Given the description of an element on the screen output the (x, y) to click on. 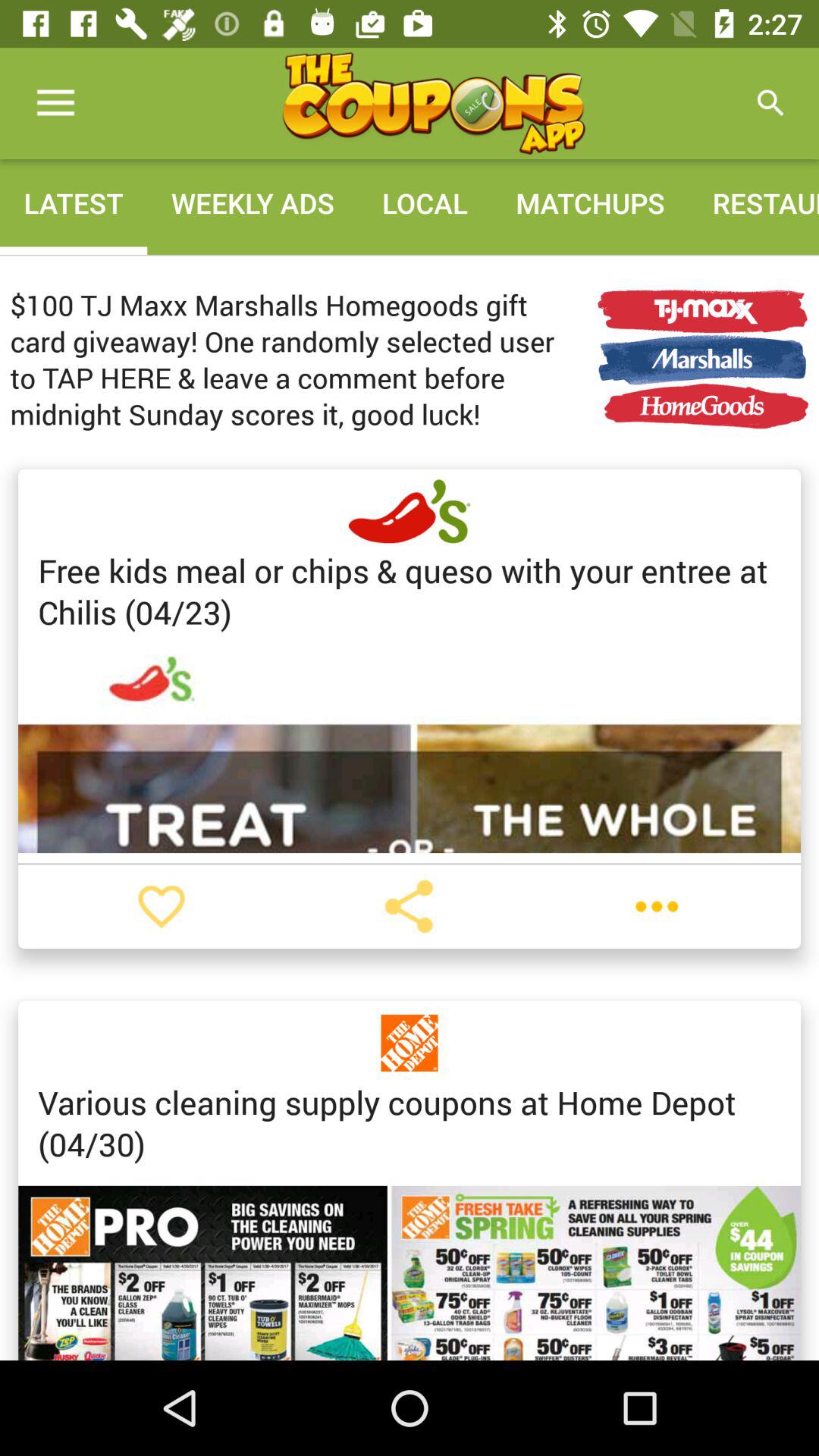
like this deal (161, 906)
